Given the description of an element on the screen output the (x, y) to click on. 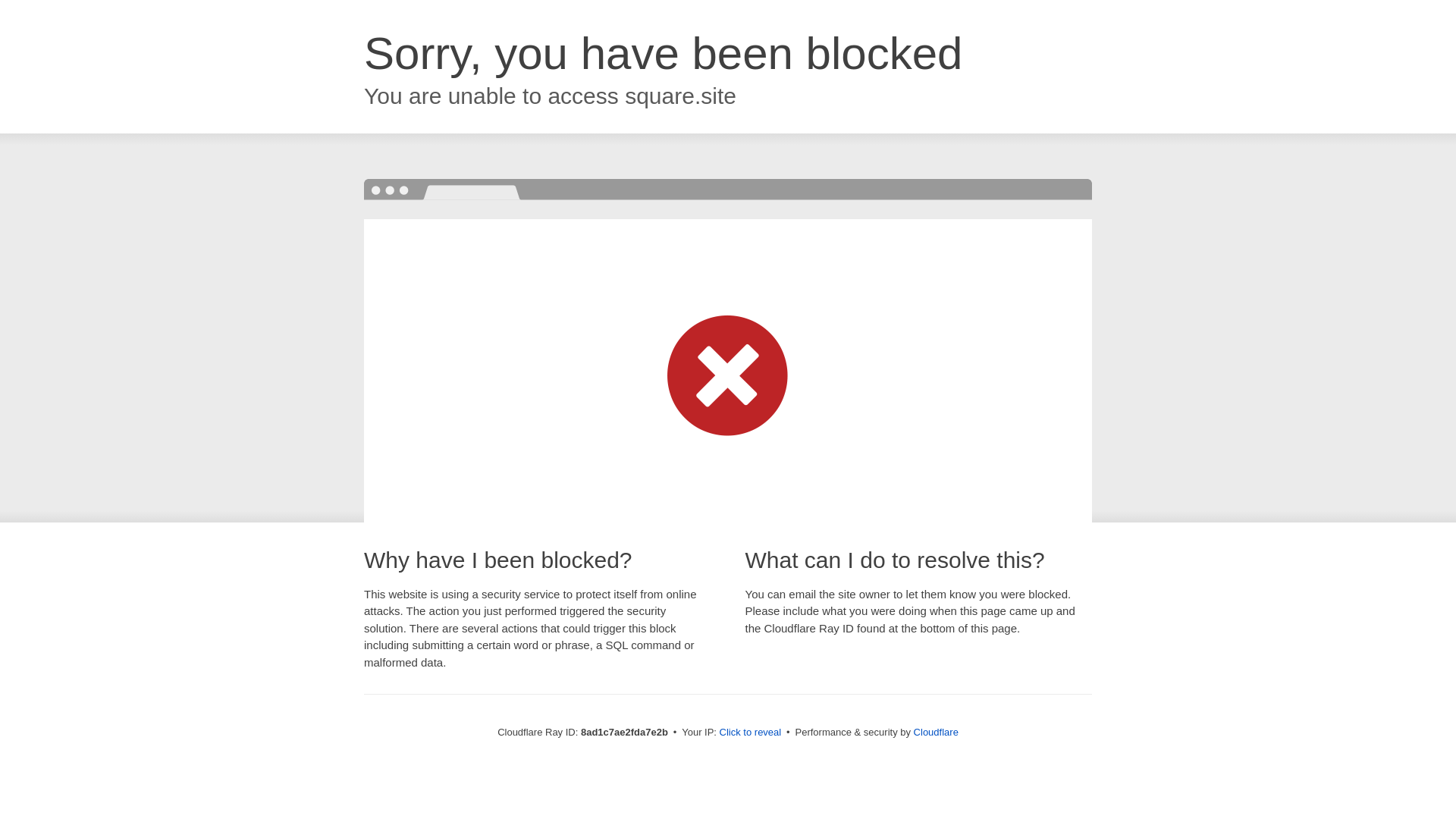
Click to reveal (750, 732)
Cloudflare (936, 731)
